Given the description of an element on the screen output the (x, y) to click on. 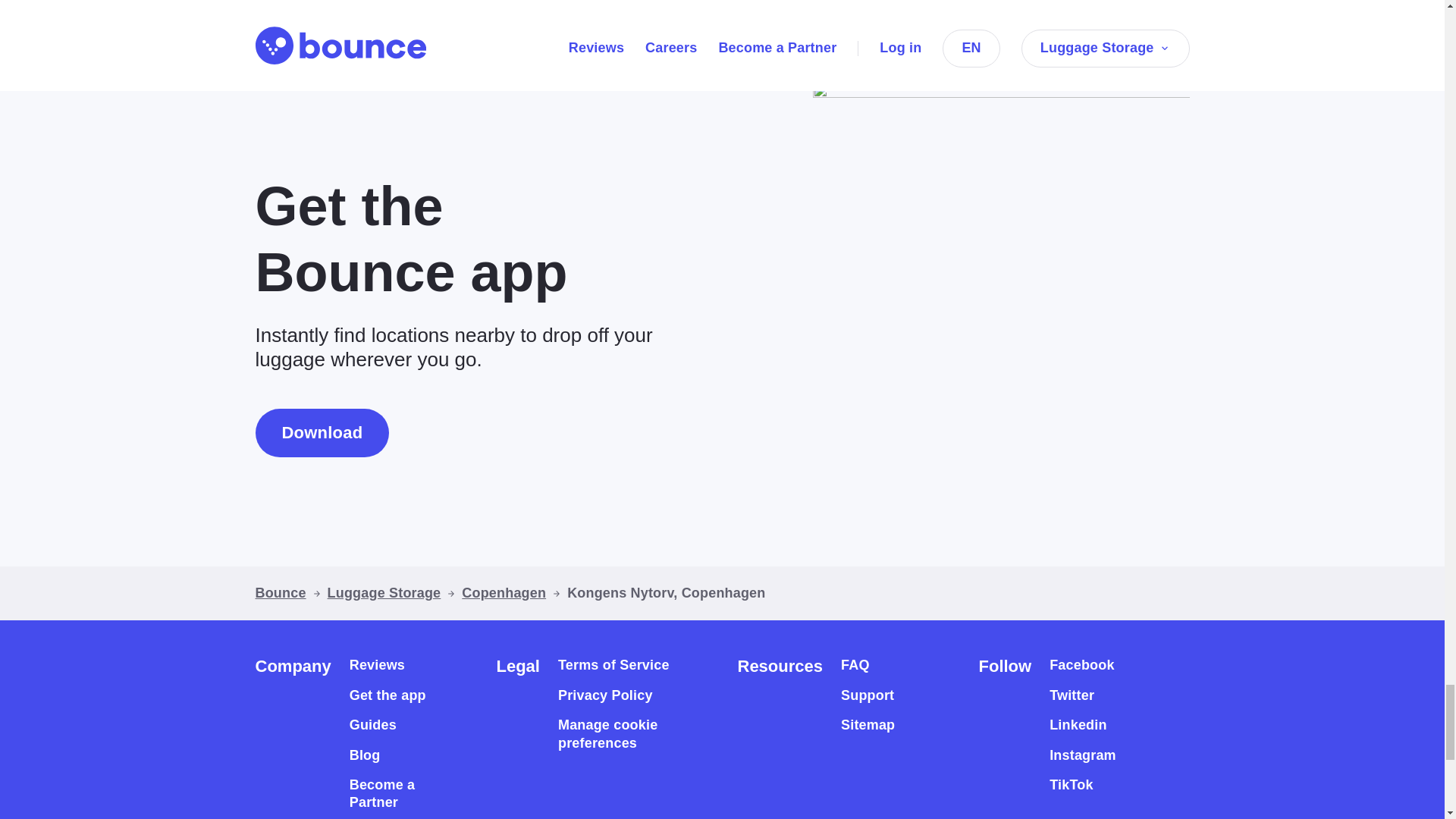
Reviews (376, 665)
Become a Partner (395, 794)
Guides (372, 724)
Bounce (279, 592)
Get the app (387, 695)
Terms of Service (613, 665)
Blog (364, 754)
Luggage Storage (384, 592)
Copenhagen (503, 592)
Download (321, 432)
